Given the description of an element on the screen output the (x, y) to click on. 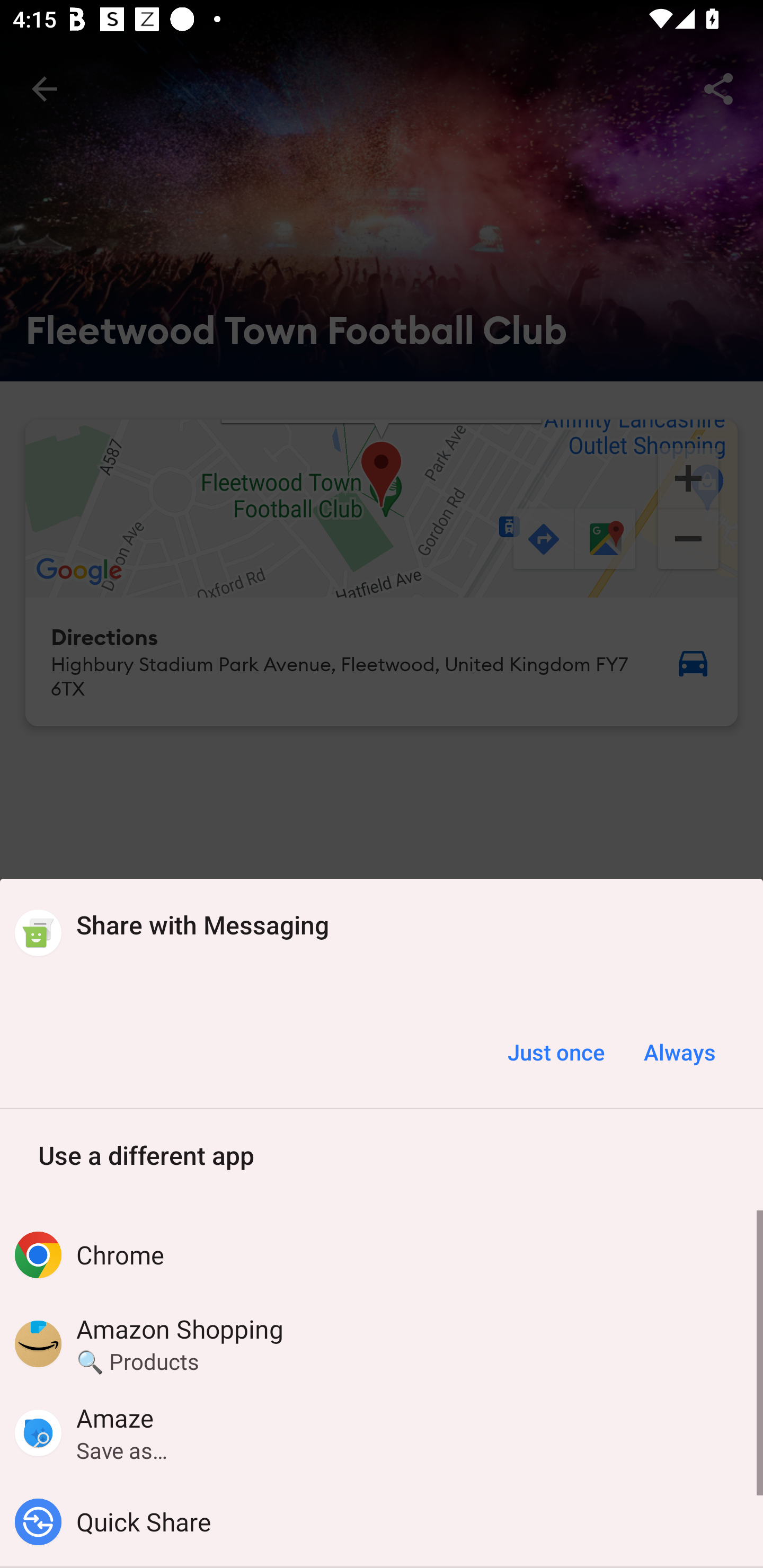
Just once (556, 1051)
Always (679, 1051)
Chrome (381, 1254)
Amazon Shopping 🔍 Products (381, 1343)
Amaze Save as… (381, 1432)
Quick Share (381, 1521)
